Given the description of an element on the screen output the (x, y) to click on. 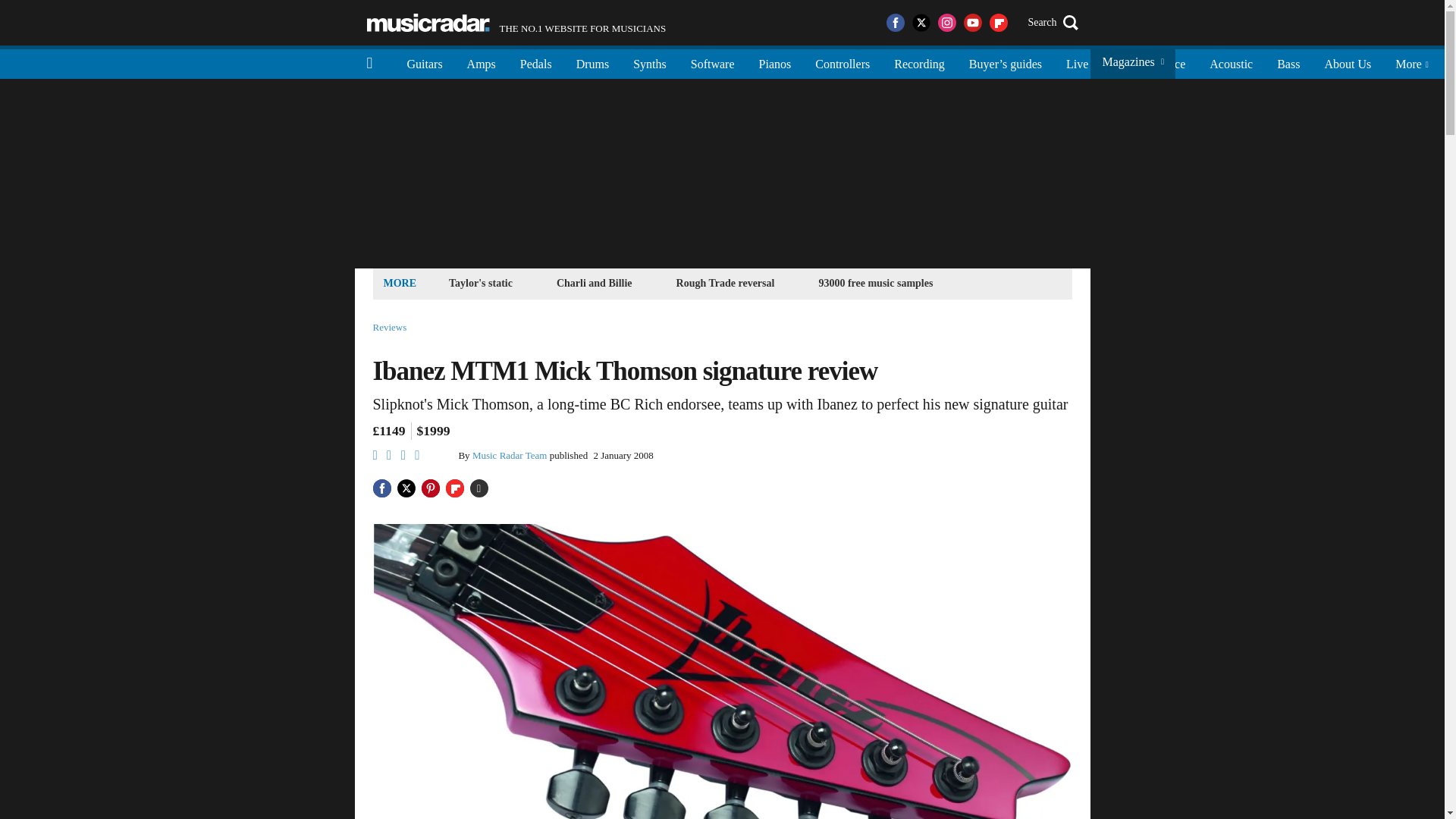
Reviews (389, 327)
Recording (919, 61)
Charli and Billie (594, 282)
Synths (649, 61)
Acoustic (1230, 61)
Music Radar (427, 22)
Drums (592, 61)
Pedals (516, 22)
Pianos (536, 61)
